Given the description of an element on the screen output the (x, y) to click on. 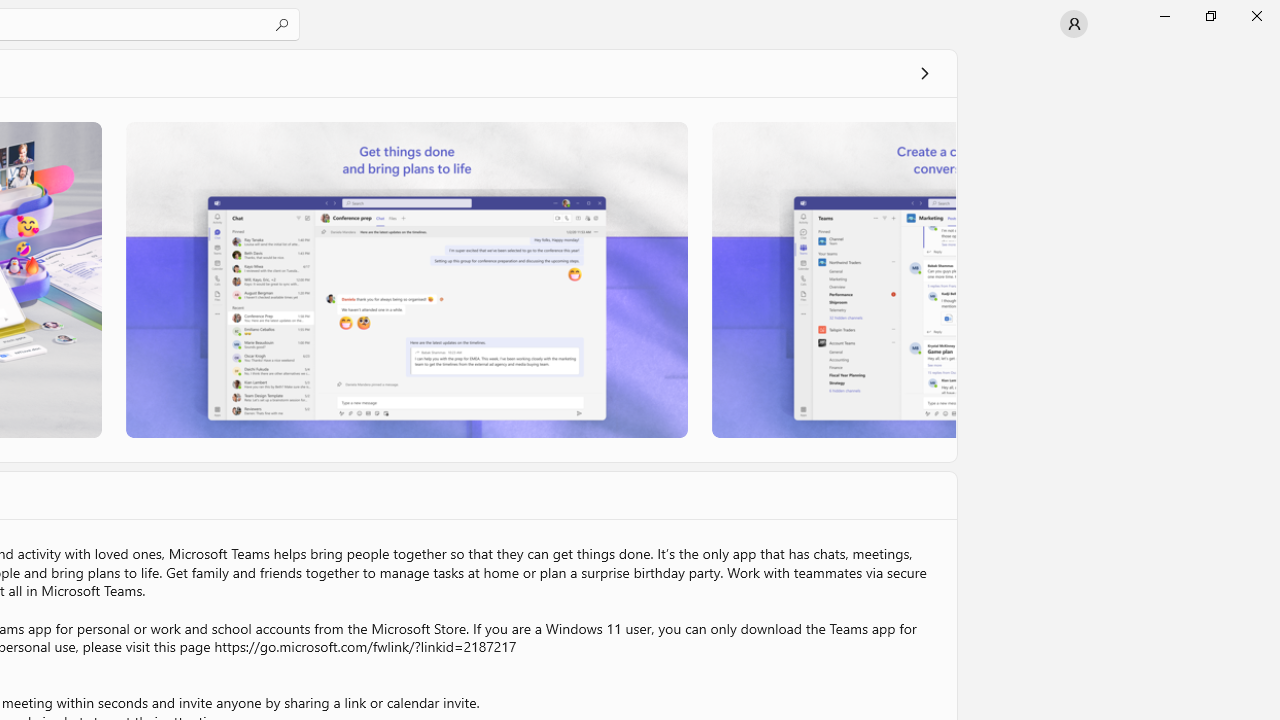
Screenshot 2 (406, 279)
See all (924, 72)
Close Microsoft Store (1256, 15)
Restore Microsoft Store (1210, 15)
User profile (1073, 24)
Minimize Microsoft Store (1164, 15)
Screenshot 3 (833, 279)
